Given the description of an element on the screen output the (x, y) to click on. 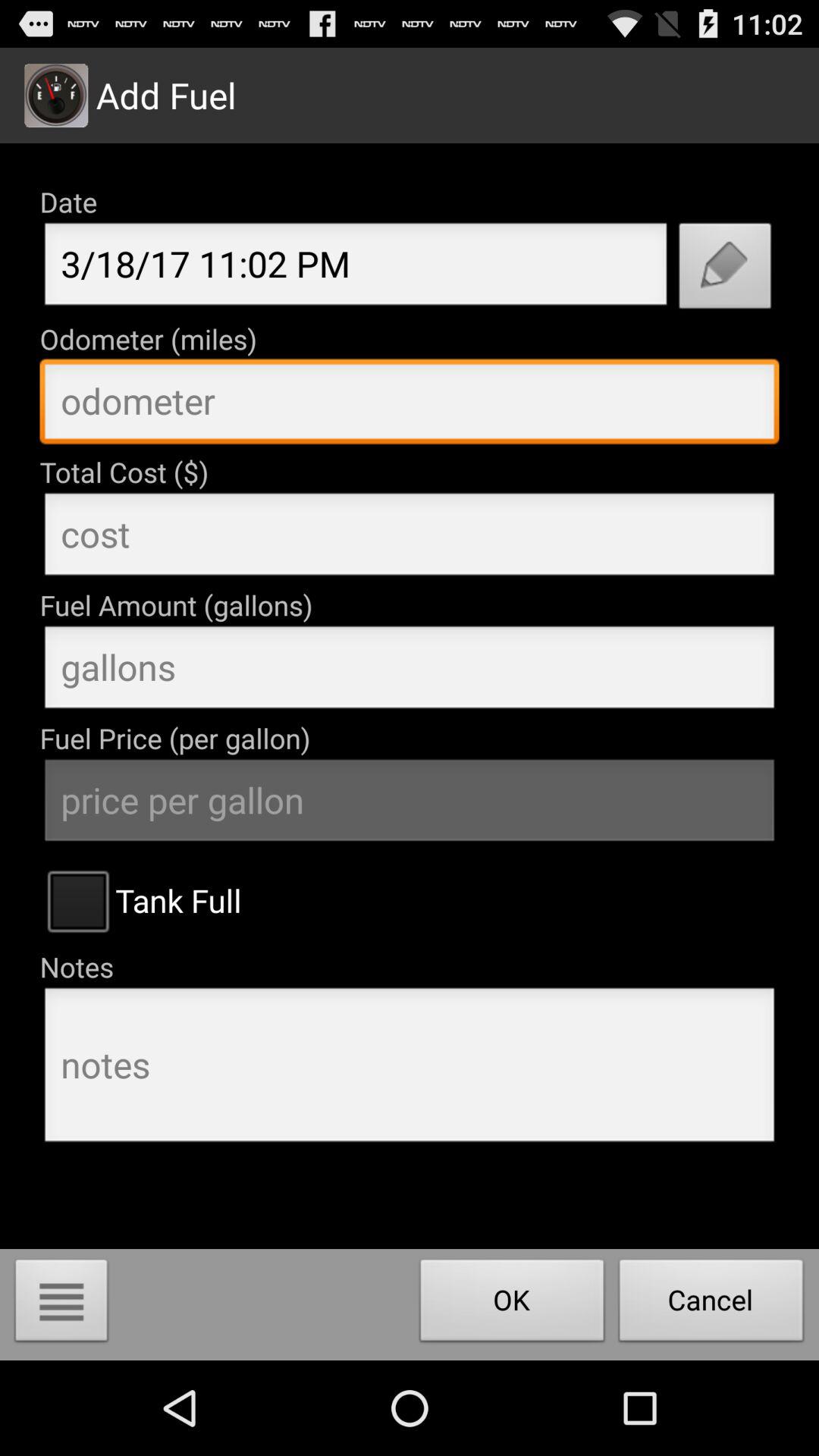
enter current mileage (409, 405)
